Given the description of an element on the screen output the (x, y) to click on. 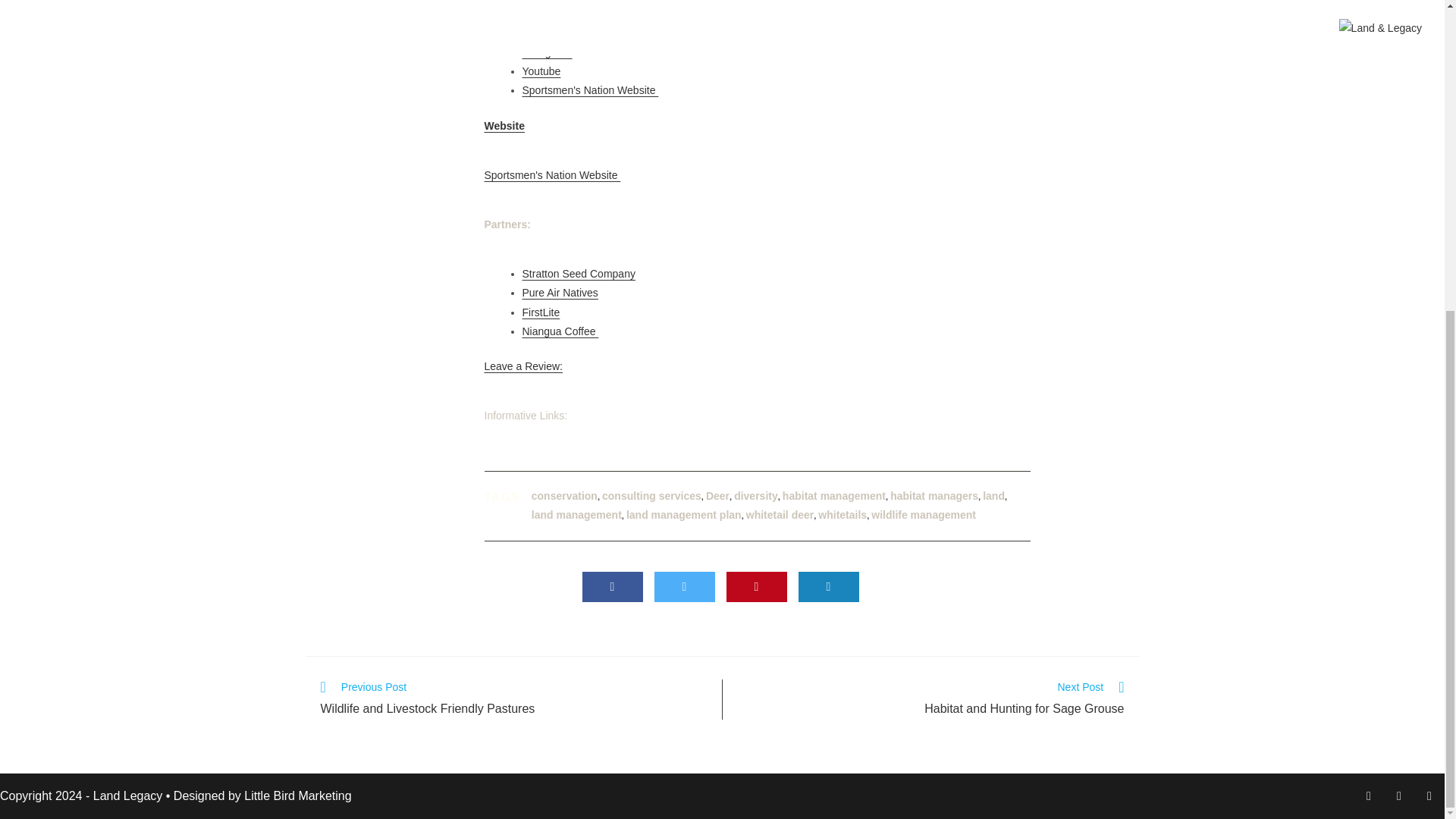
Youtube (540, 70)
Sportsmen's Nation Website  (551, 174)
Website (503, 125)
Instagram  (546, 51)
Stratton Seed Company (577, 273)
Facebook  (545, 33)
Sportsmen's Nation Website  (589, 90)
Pure Air Natives (558, 292)
